Given the description of an element on the screen output the (x, y) to click on. 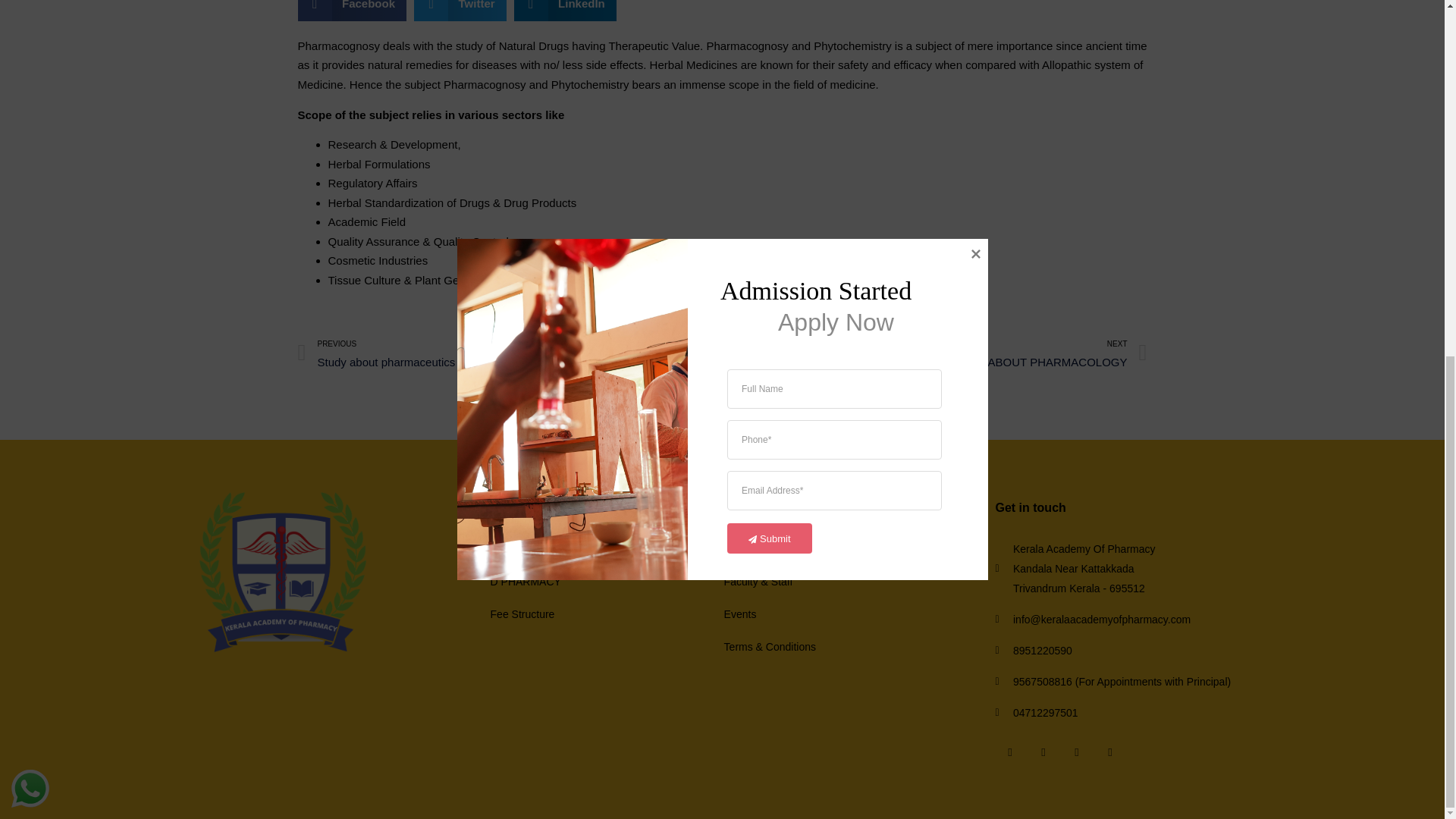
WhatsApp us (30, 162)
